Given the description of an element on the screen output the (x, y) to click on. 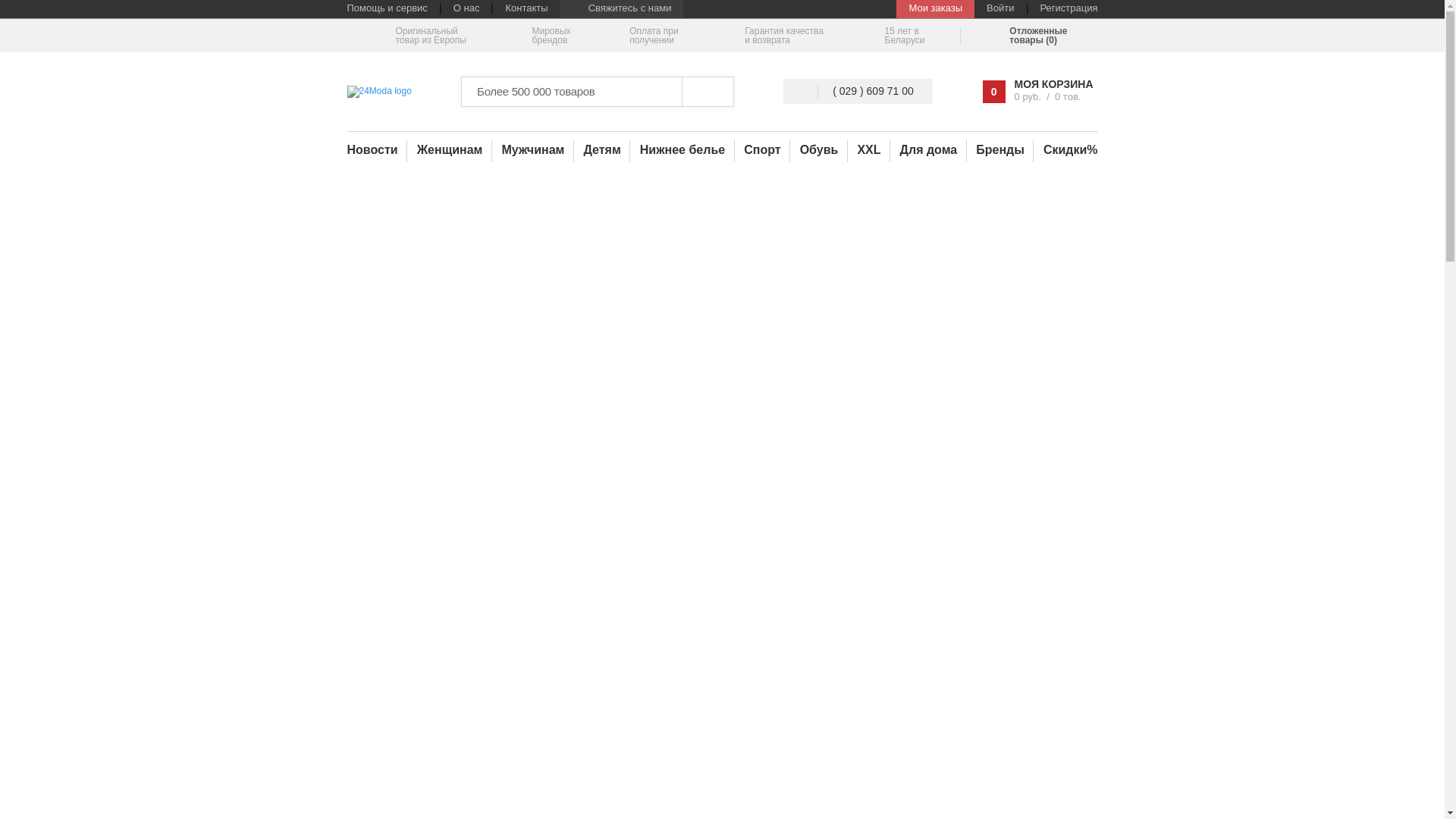
XXL Element type: text (868, 149)
Moda24 logo Element type: hover (379, 91)
